Given the description of an element on the screen output the (x, y) to click on. 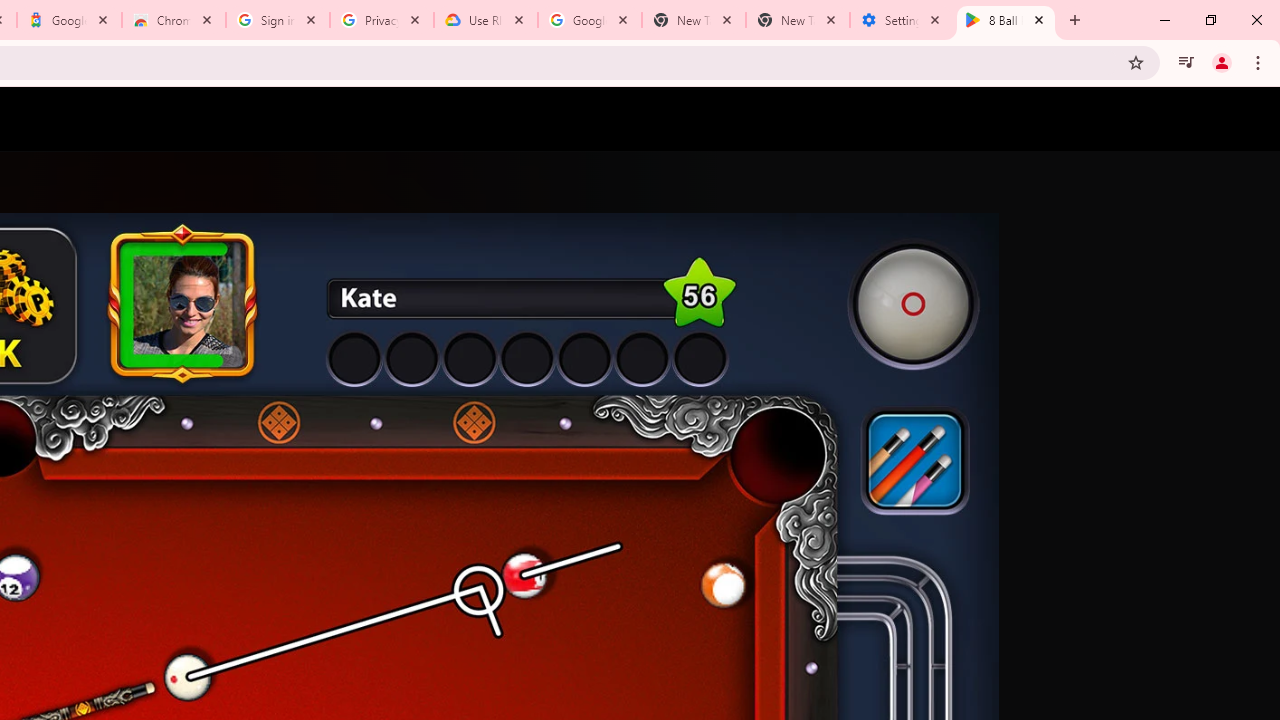
Open account menu (1245, 119)
Google (68, 20)
New Tab (797, 20)
Settings - System (901, 20)
Chrome Web Store - Color themes by Chrome (173, 20)
